Given the description of an element on the screen output the (x, y) to click on. 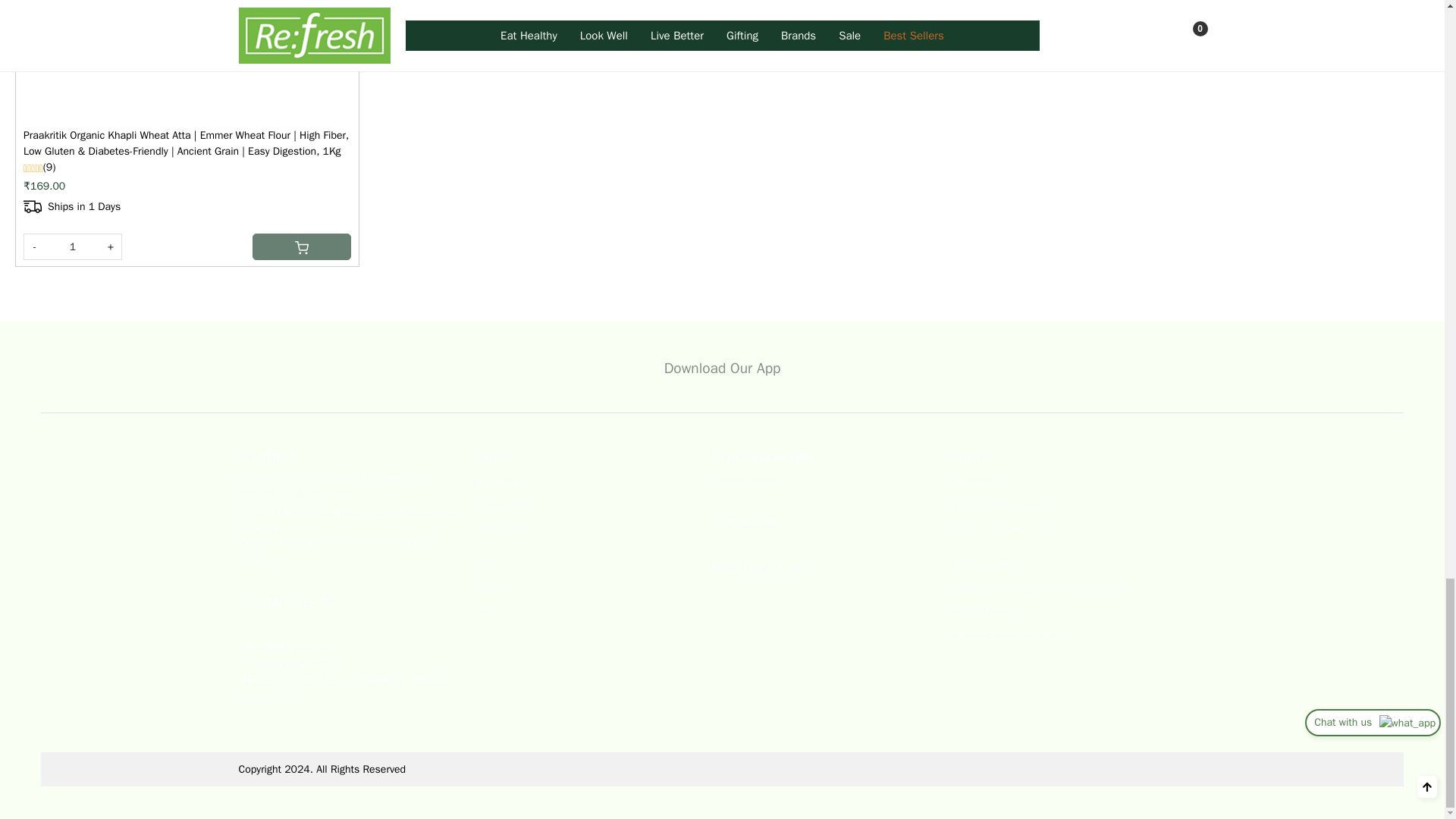
1 (72, 246)
